Given the description of an element on the screen output the (x, y) to click on. 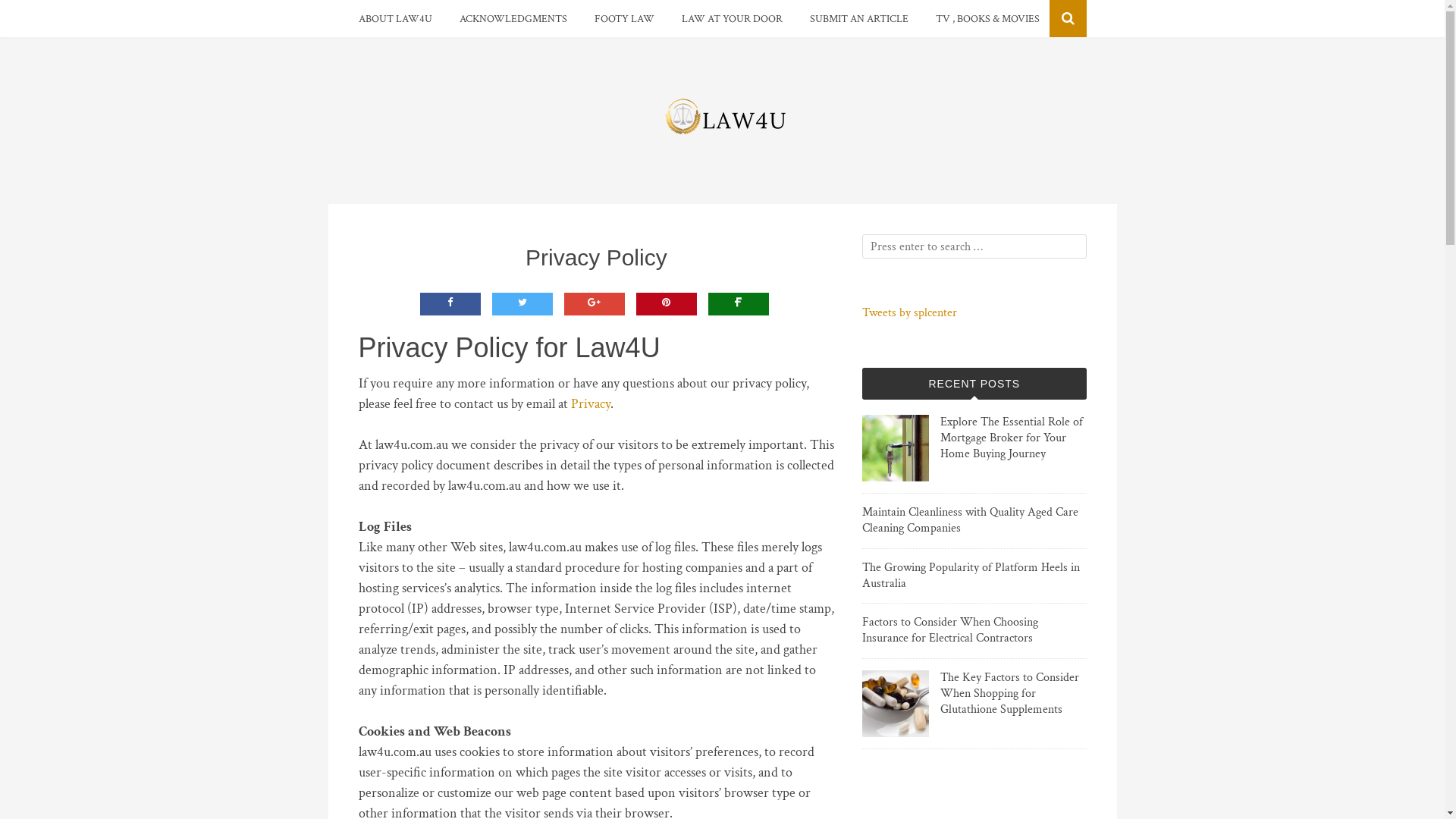
Search for: Element type: hover (973, 246)
LAW AT YOUR DOOR Element type: text (730, 19)
TV , BOOKS & MOVIES Element type: text (987, 19)
Tweets by splcenter Element type: text (909, 312)
The Growing Popularity of Platform Heels in Australia Element type: text (970, 575)
Privacy Element type: text (589, 403)
ABOUT LAW4U Element type: text (394, 19)
SUBMIT AN ARTICLE Element type: text (858, 19)
ACKNOWLEDGMENTS Element type: text (513, 19)
FOOTY LAW Element type: text (624, 19)
